Given the description of an element on the screen output the (x, y) to click on. 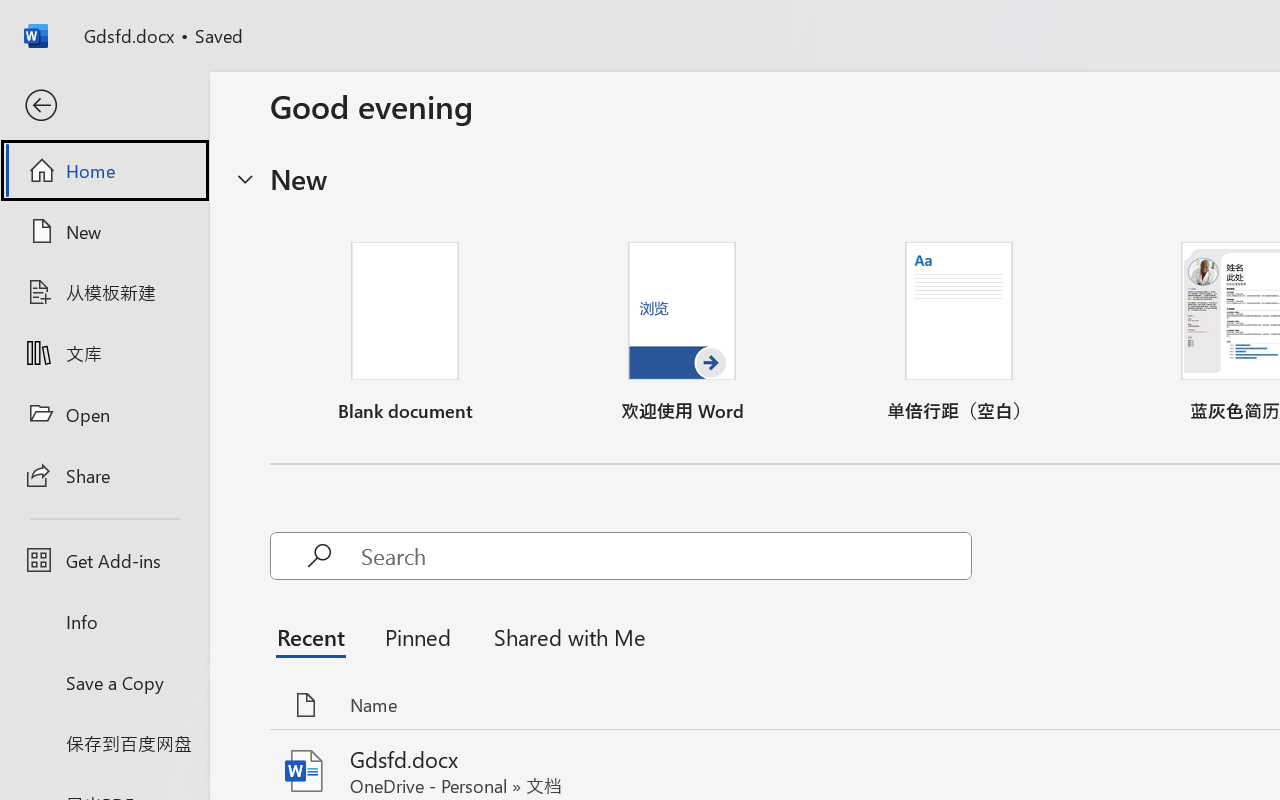
Back (104, 106)
Recent (316, 636)
Shared with Me (563, 636)
Get Add-ins (104, 560)
Save a Copy (104, 682)
New (104, 231)
Info (104, 621)
Hide or show region (245, 178)
